Given the description of an element on the screen output the (x, y) to click on. 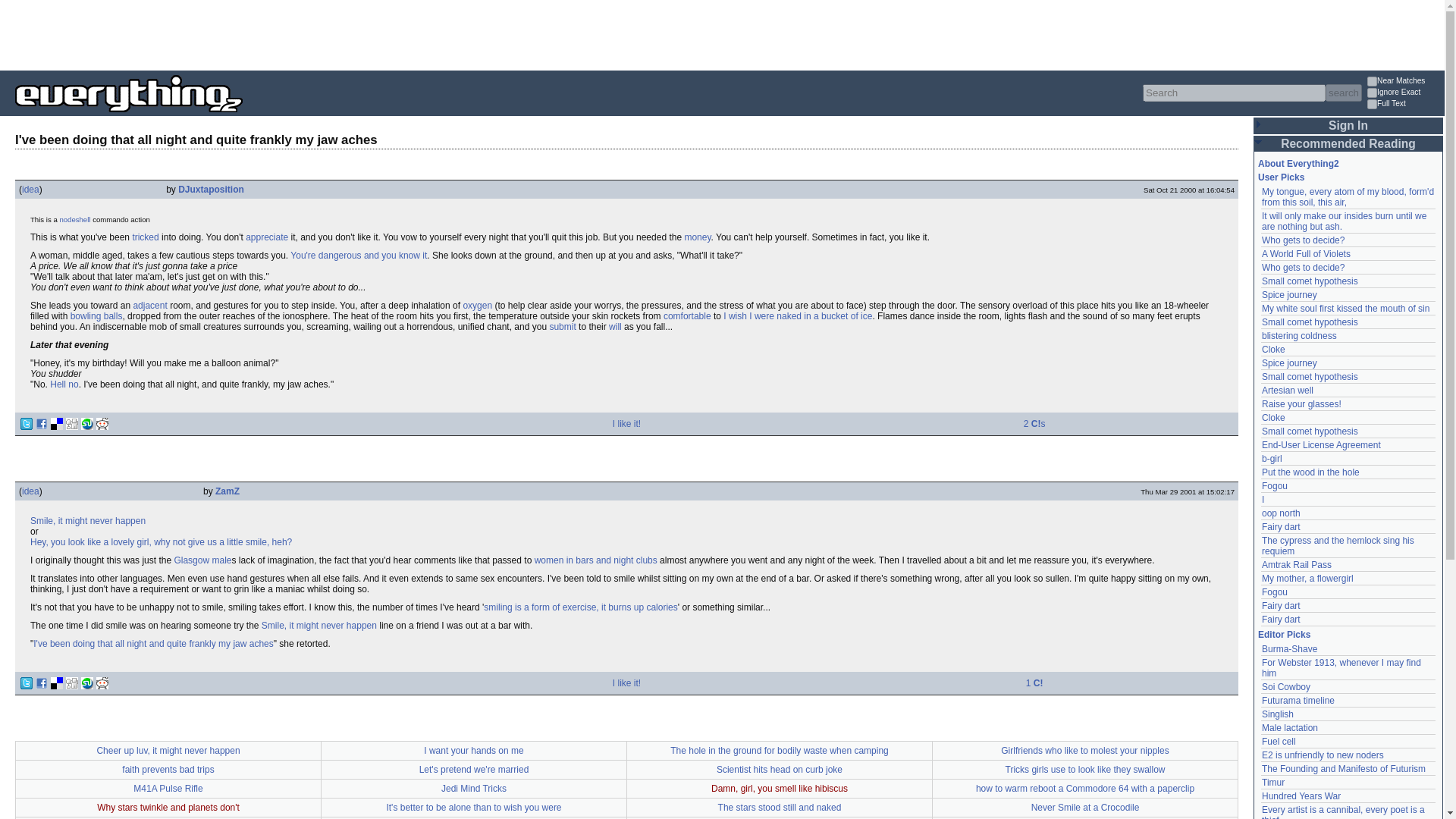
You're dangerous and you know it (357, 255)
Smile, it might never happen (87, 520)
will (614, 326)
ZamZ (227, 491)
search (1342, 92)
money (697, 236)
idea (30, 189)
I wish I were naked in a bucket of ice (797, 316)
1 (1372, 103)
Everything (242, 117)
